Given the description of an element on the screen output the (x, y) to click on. 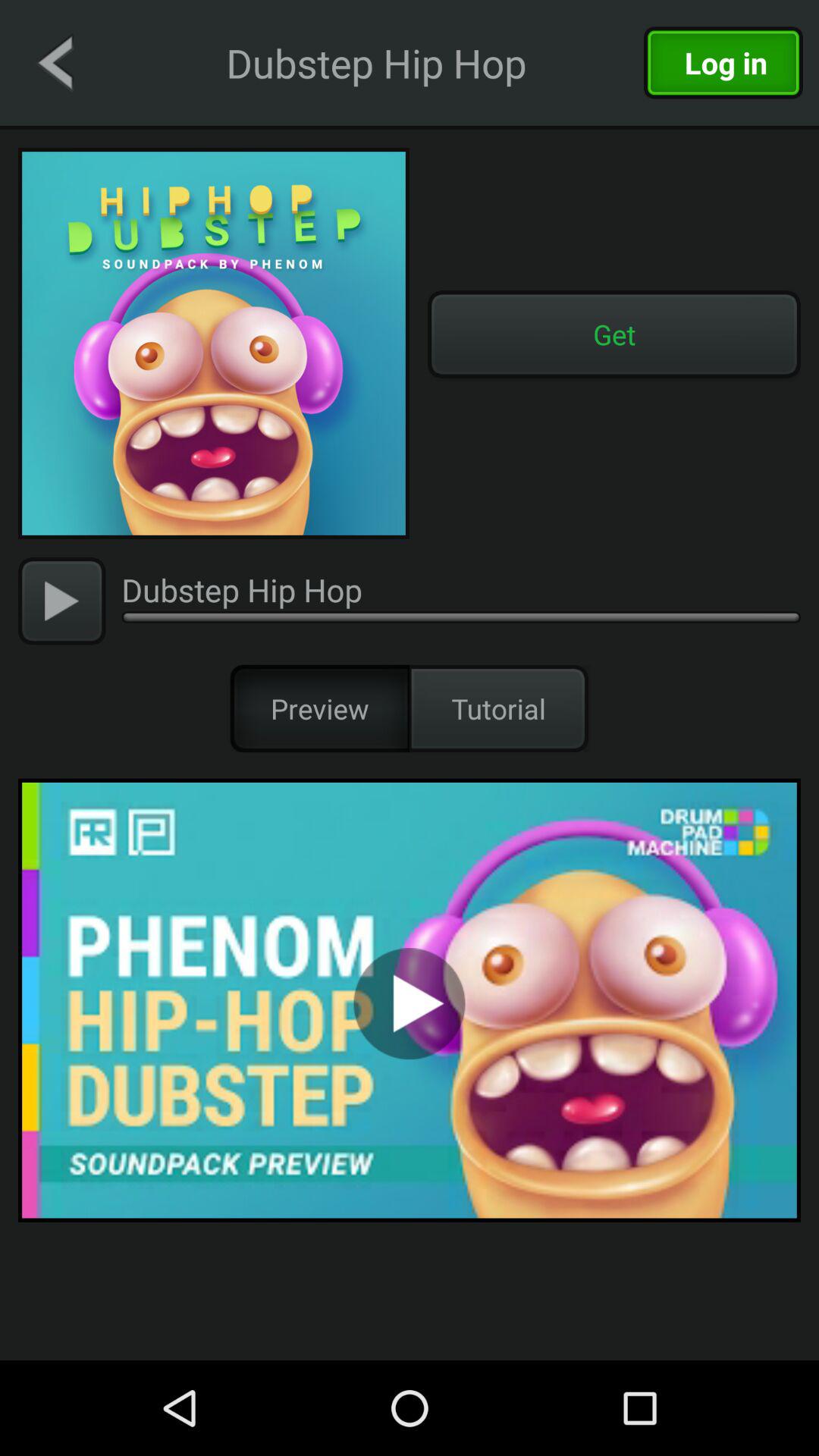
music logo (213, 343)
